Given the description of an element on the screen output the (x, y) to click on. 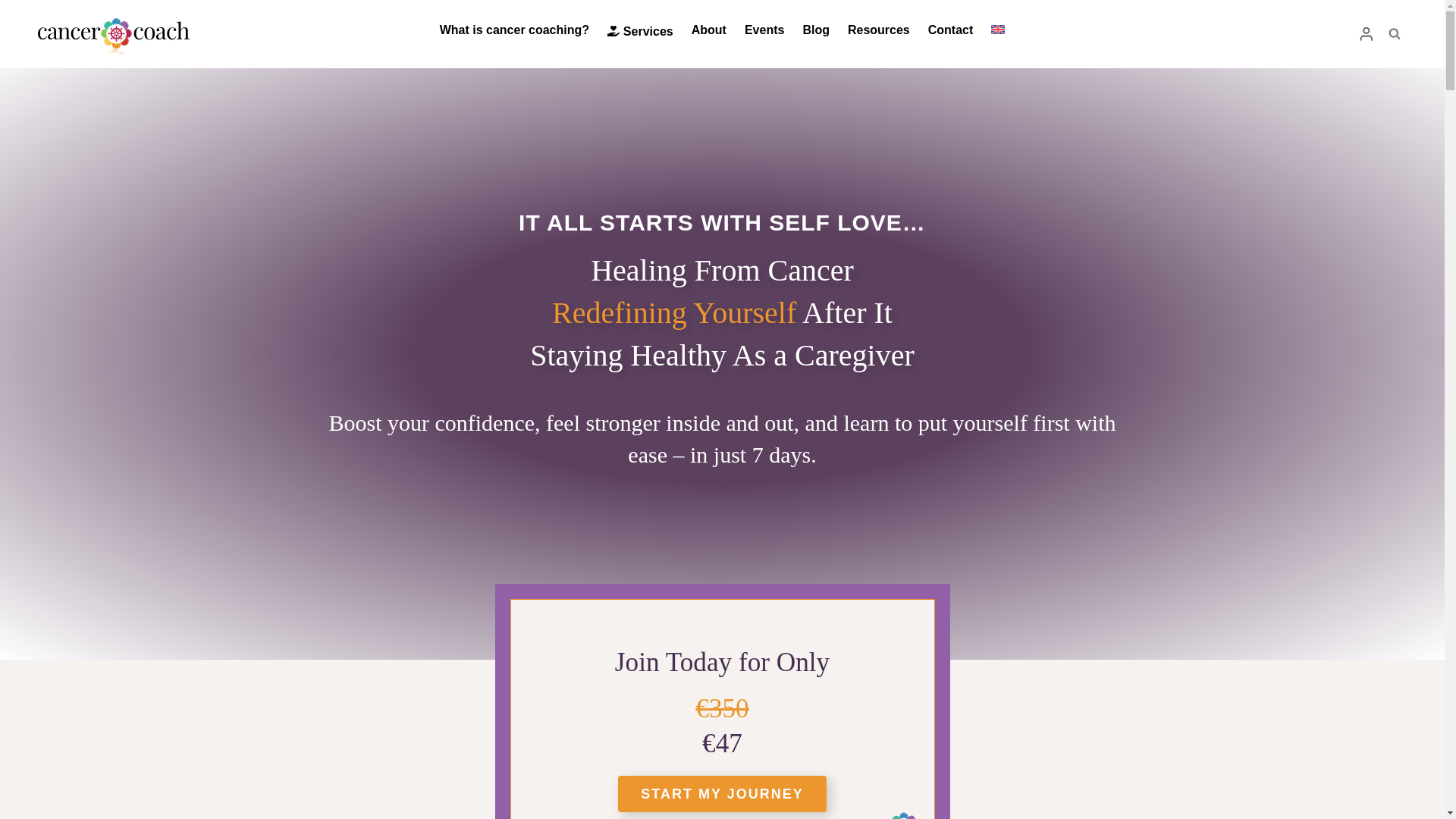
About (708, 30)
Events (764, 30)
What is cancer coaching? (514, 30)
OCC Favicon (903, 815)
Services (640, 29)
Contact (950, 30)
Resources (878, 30)
START MY JOURNEY (721, 793)
Blog (815, 30)
